Given the description of an element on the screen output the (x, y) to click on. 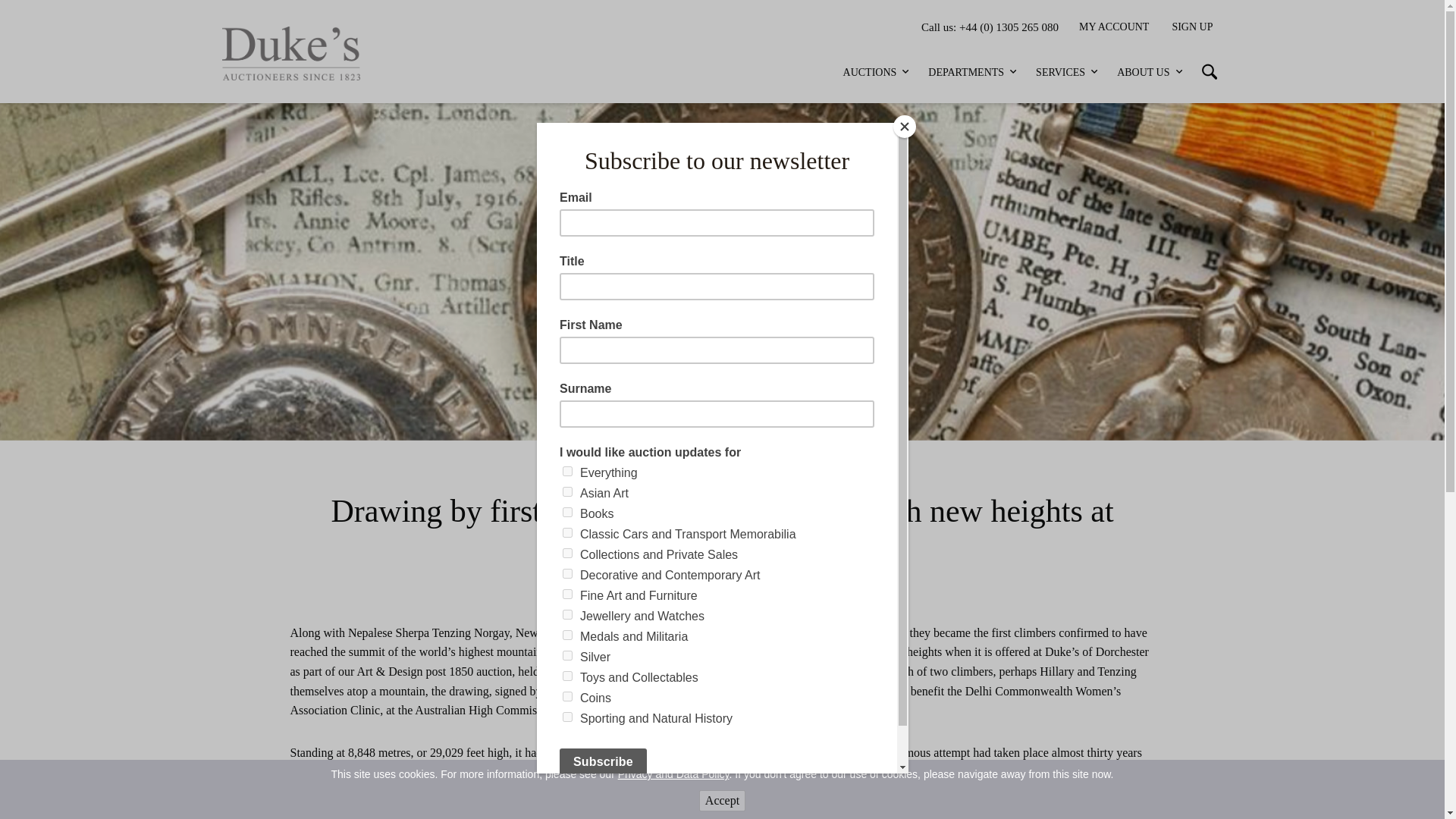
Privacy and Data Policy (673, 774)
SERVICES (1068, 73)
SIGN UP (1192, 27)
DEPARTMENTS (973, 73)
AUCTIONS (878, 73)
Accept (721, 800)
MY ACCOUNT (1113, 27)
Accept (721, 800)
